Given the description of an element on the screen output the (x, y) to click on. 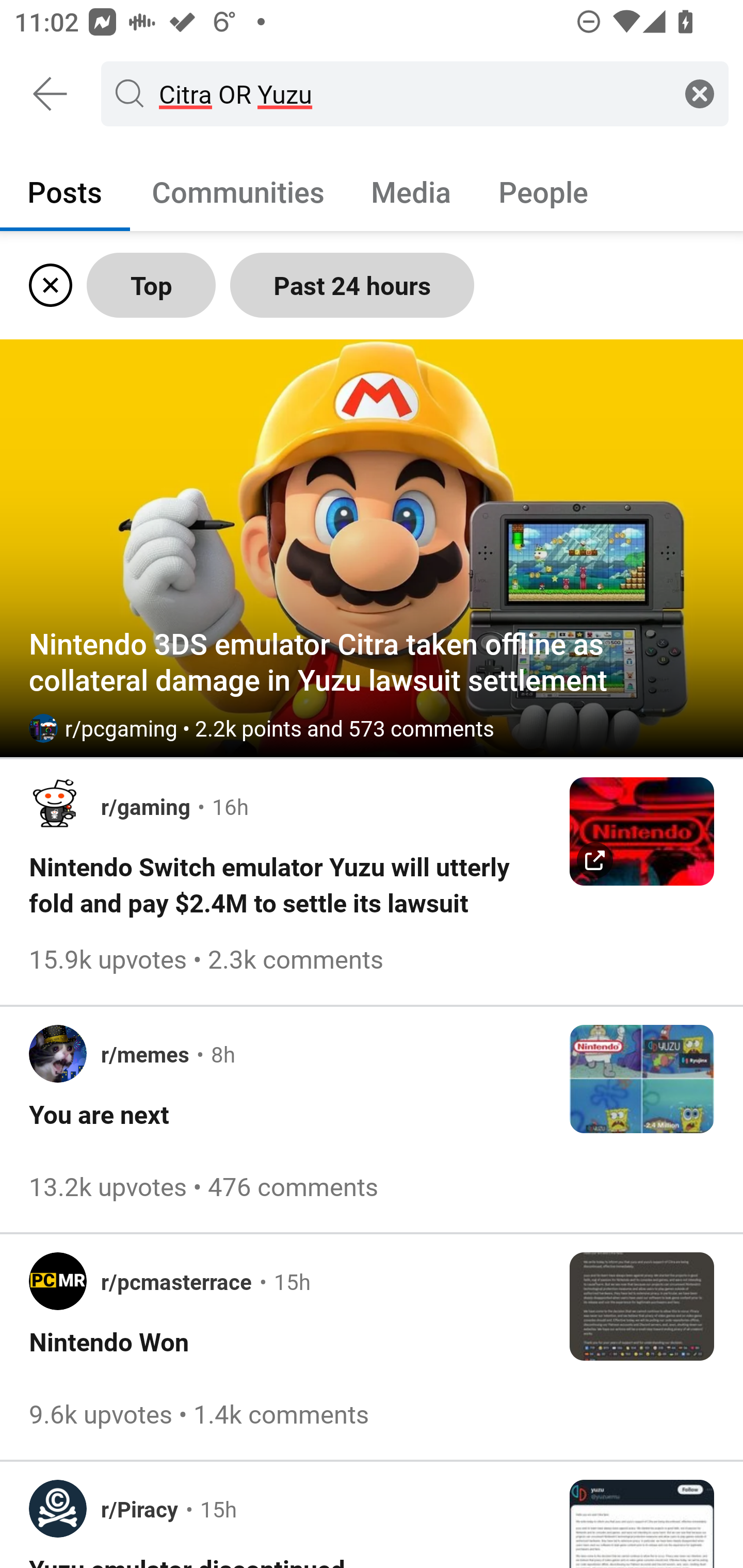
Back (50, 93)
Citra OR Yuzu (410, 93)
Clear search (699, 93)
Communities (238, 191)
Media (411, 191)
People (542, 191)
Clear active filters (46, 285)
Top Sort by Top (150, 285)
Past 24 hours Filter Time by Past 24 hours (352, 285)
